Given the description of an element on the screen output the (x, y) to click on. 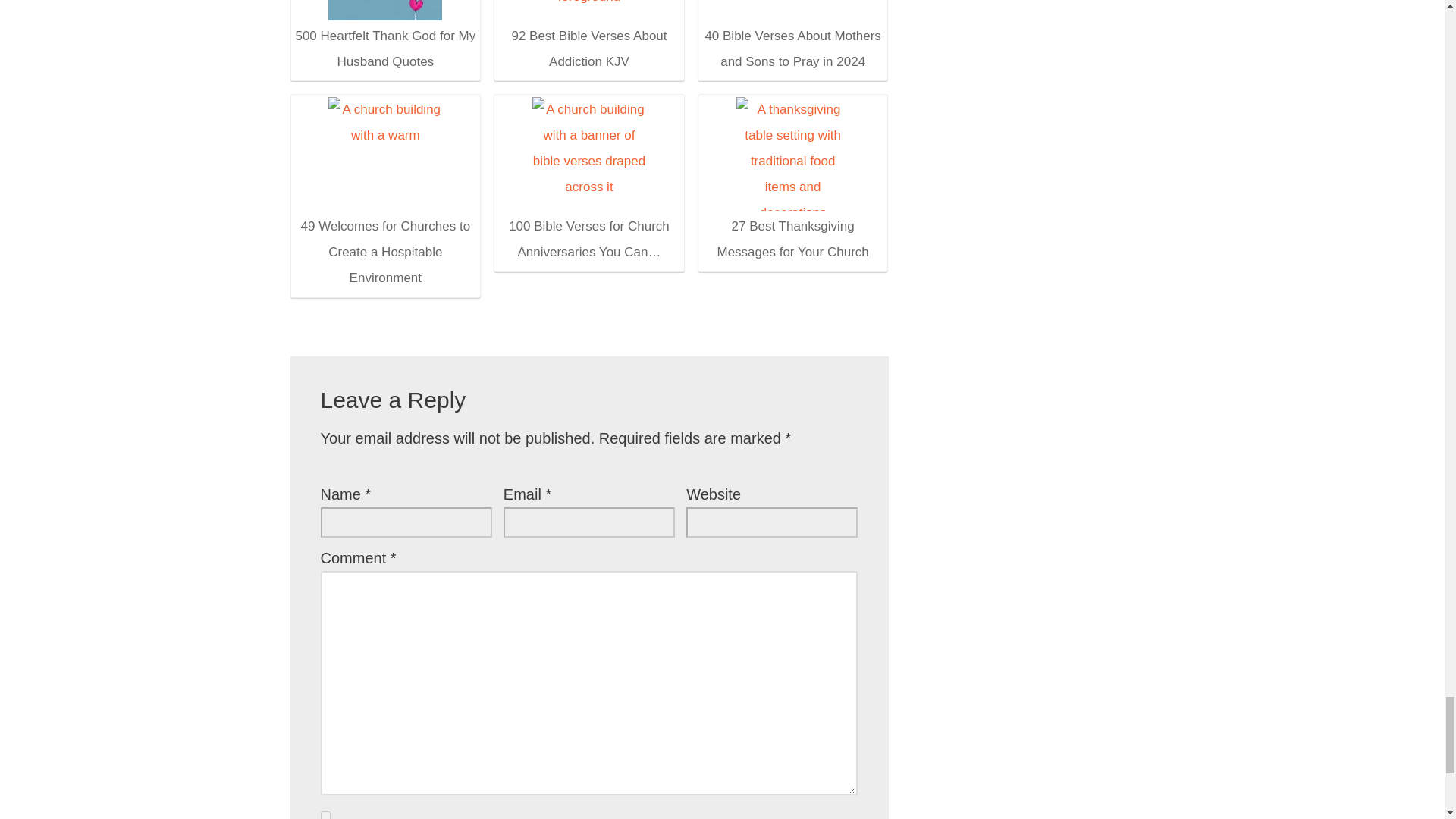
40 Bible Verses About Mothers and Sons to Pray in 2024 (792, 37)
27 Best Thanksgiving Messages for Your Church (792, 181)
92 Best Bible Verses About Addiction KJV (588, 37)
yes (325, 815)
92 Best Bible Verses About Addiction KJV (589, 9)
27 Best Thanksgiving Messages for Your Church (793, 153)
49 Welcomes for Churches to Create a Hospitable Environment (385, 153)
49 Welcomes for Churches to Create a Hospitable Environment (384, 194)
500 Heartfelt Thank God for My Husband Quotes (384, 37)
